Given the description of an element on the screen output the (x, y) to click on. 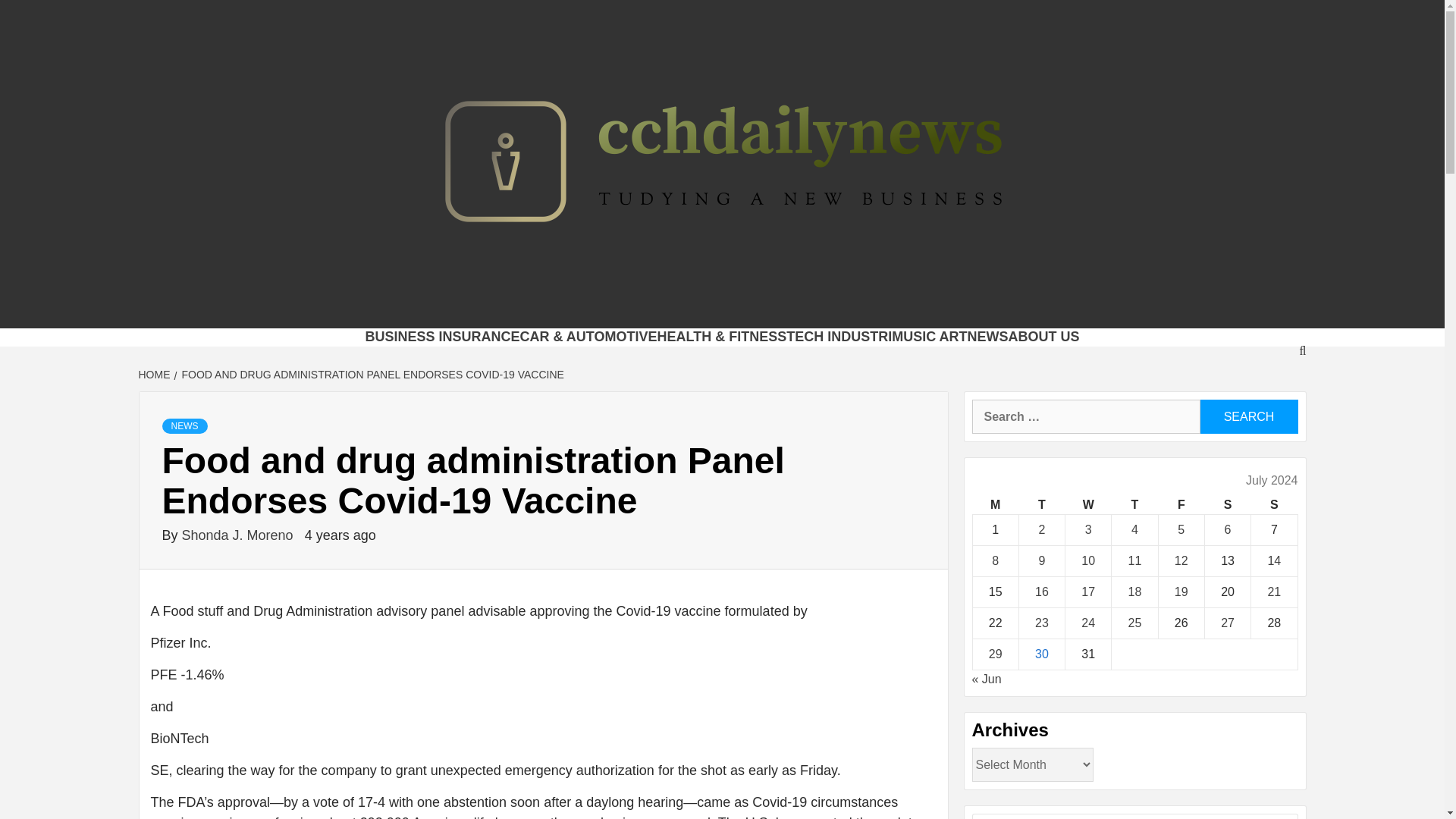
Search (1248, 416)
ABOUT US (1044, 336)
Tuesday (1040, 505)
HOME (155, 374)
FOOD AND DRUG ADMINISTRATION PANEL ENDORSES COVID-19 VACCINE (370, 374)
Monday (994, 505)
Friday (1180, 505)
Wednesday (1088, 505)
Saturday (1227, 505)
Shonda J. Moreno (239, 534)
CCHDAILYNEWS (447, 309)
BUSINESS INSURANCE (442, 336)
MUSIC ART (928, 336)
NEWS (184, 426)
Sunday (1273, 505)
